Given the description of an element on the screen output the (x, y) to click on. 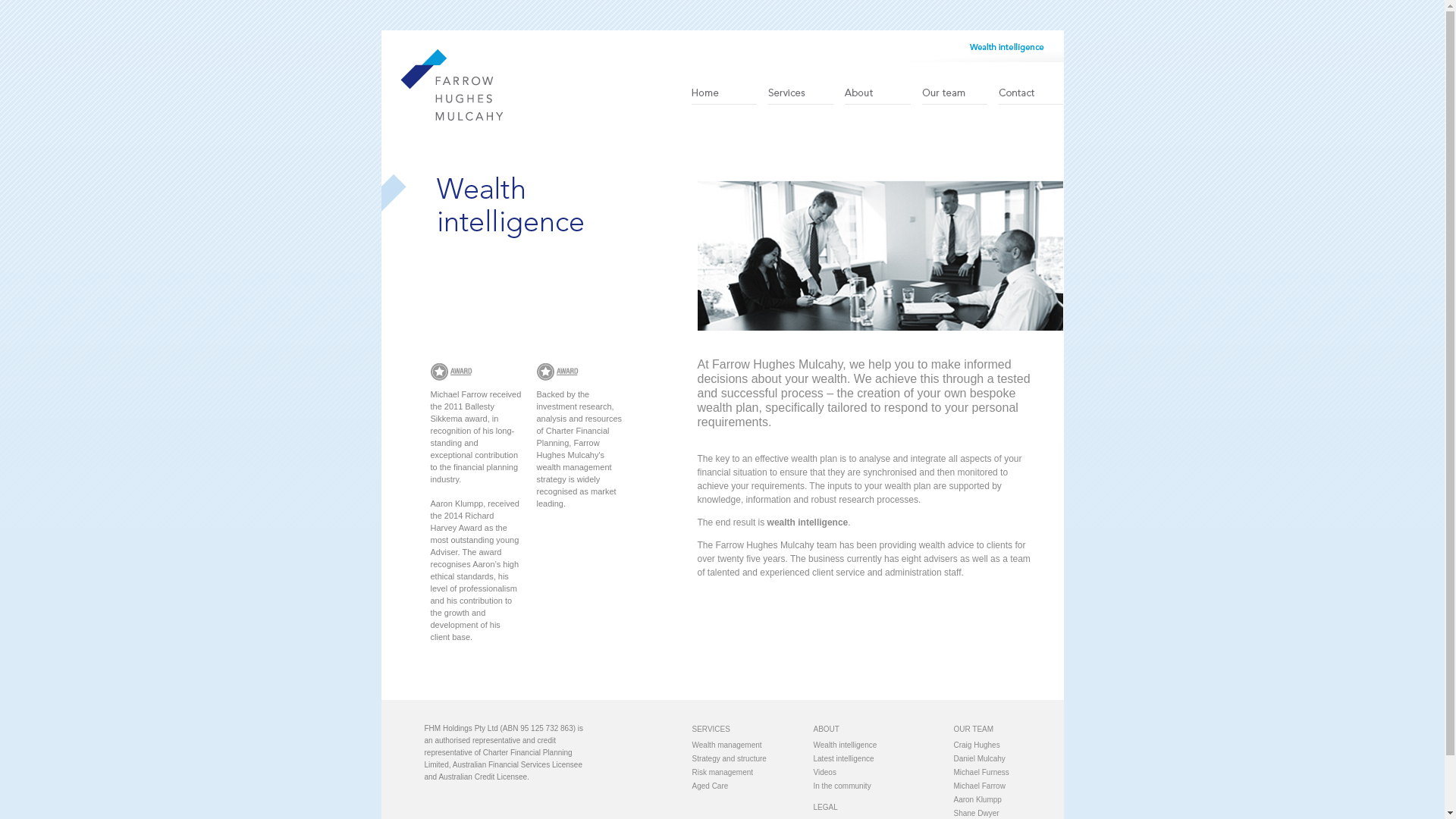
Daniel Mulcahy Element type: text (1006, 758)
Michael Farrow Element type: text (1006, 786)
Strategy and structure Element type: text (751, 758)
Aaron Klumpp Element type: text (1006, 799)
ABOUT Element type: text (825, 728)
Latest intelligence Element type: text (873, 758)
OUR TEAM Element type: text (973, 728)
Wealth intelligence Element type: text (873, 745)
Aged Care Element type: text (751, 786)
Michael Furness Element type: text (1006, 772)
Wealth management Element type: text (751, 745)
Craig Hughes Element type: text (1006, 745)
SERVICES Element type: text (710, 728)
Videos Element type: text (873, 772)
Risk management Element type: text (751, 772)
In the community Element type: text (873, 786)
